Given the description of an element on the screen output the (x, y) to click on. 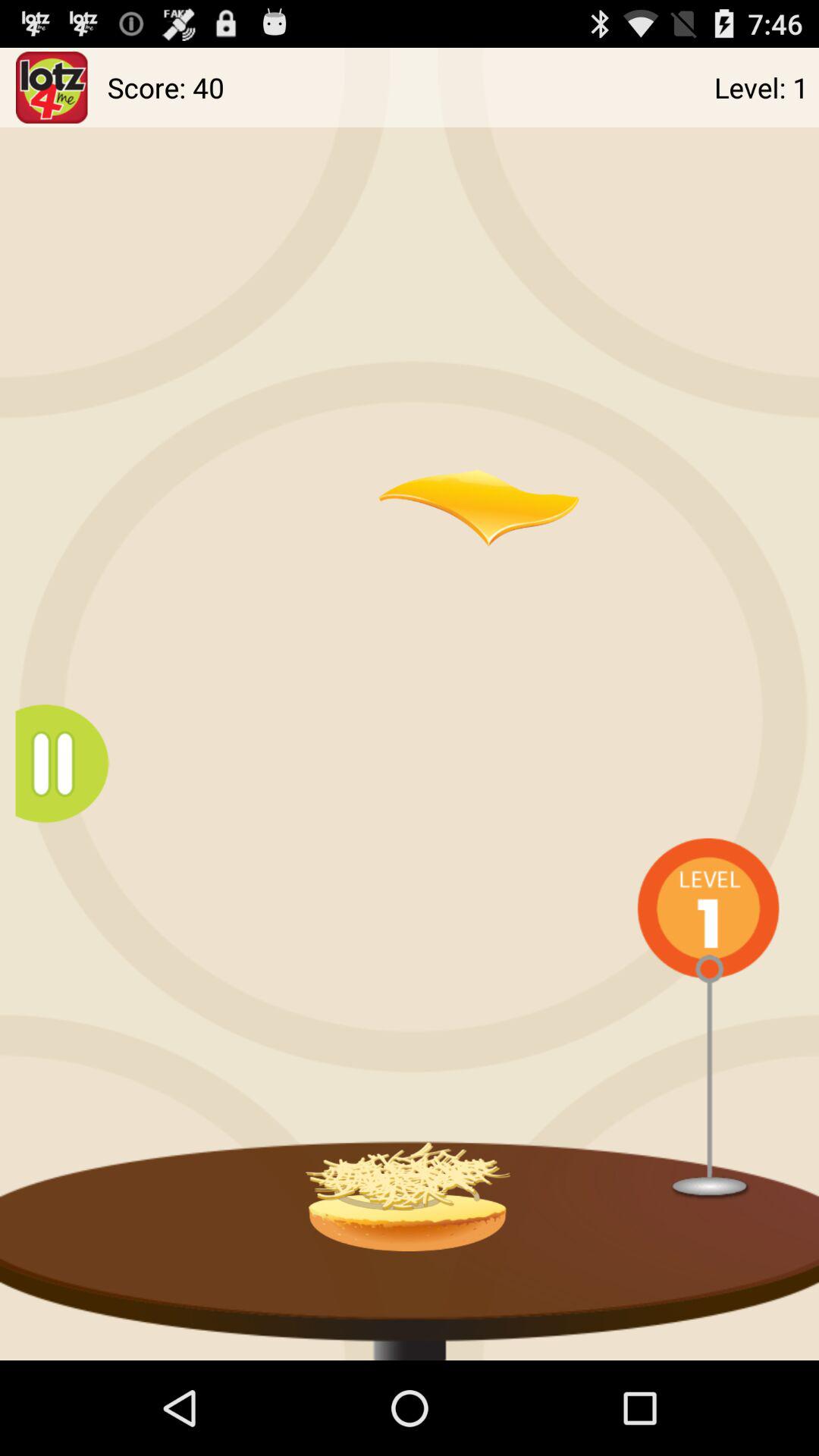
app home (51, 87)
